Given the description of an element on the screen output the (x, y) to click on. 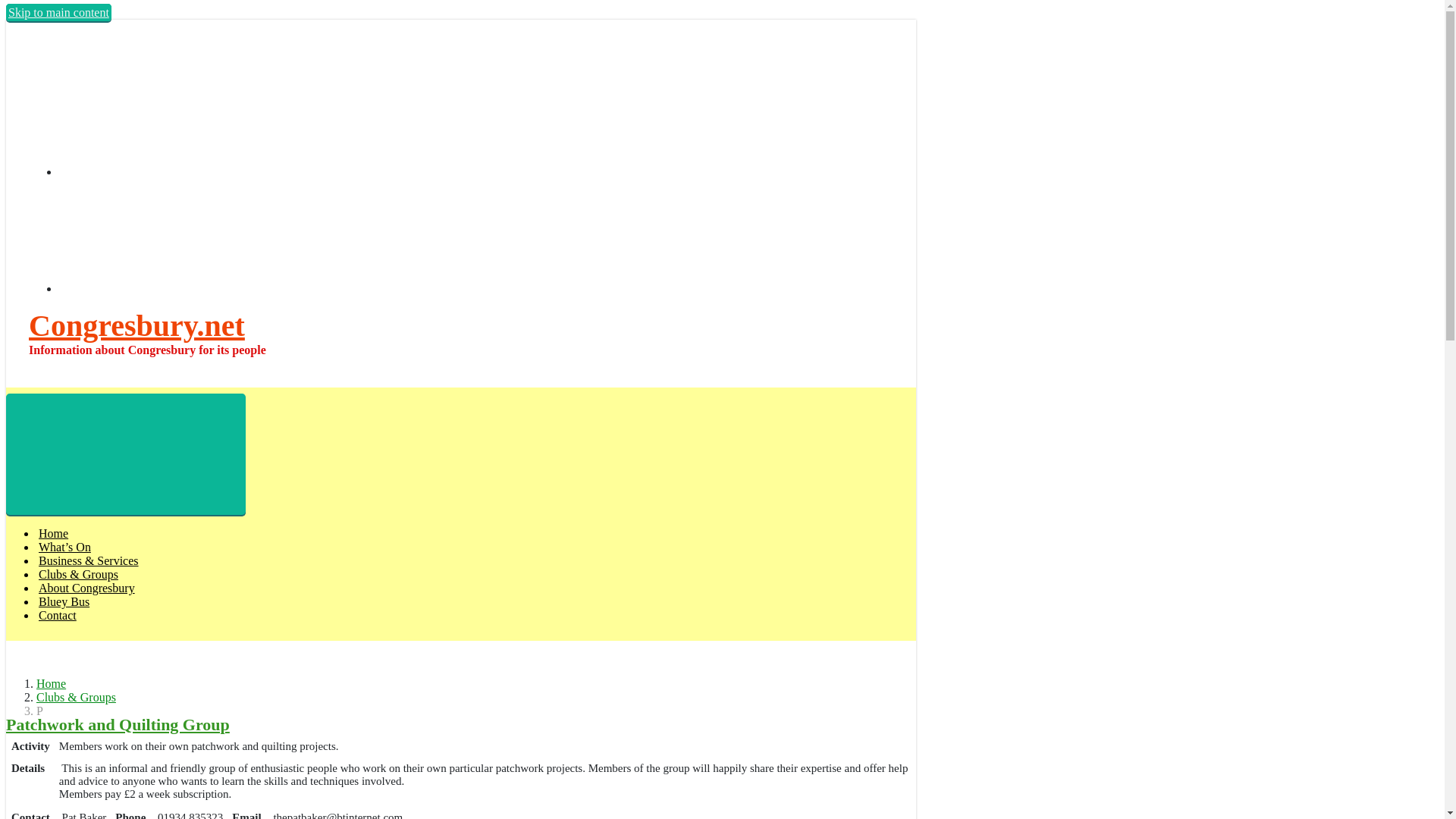
Patchwork and Quilting Group (117, 723)
Contact (58, 615)
Twitter (172, 287)
Congresbury.net (136, 325)
Home (53, 533)
Bluey Bus (63, 601)
Facebook (172, 171)
Skip to main content (58, 12)
Home (50, 683)
About Congresbury (87, 587)
